Given the description of an element on the screen output the (x, y) to click on. 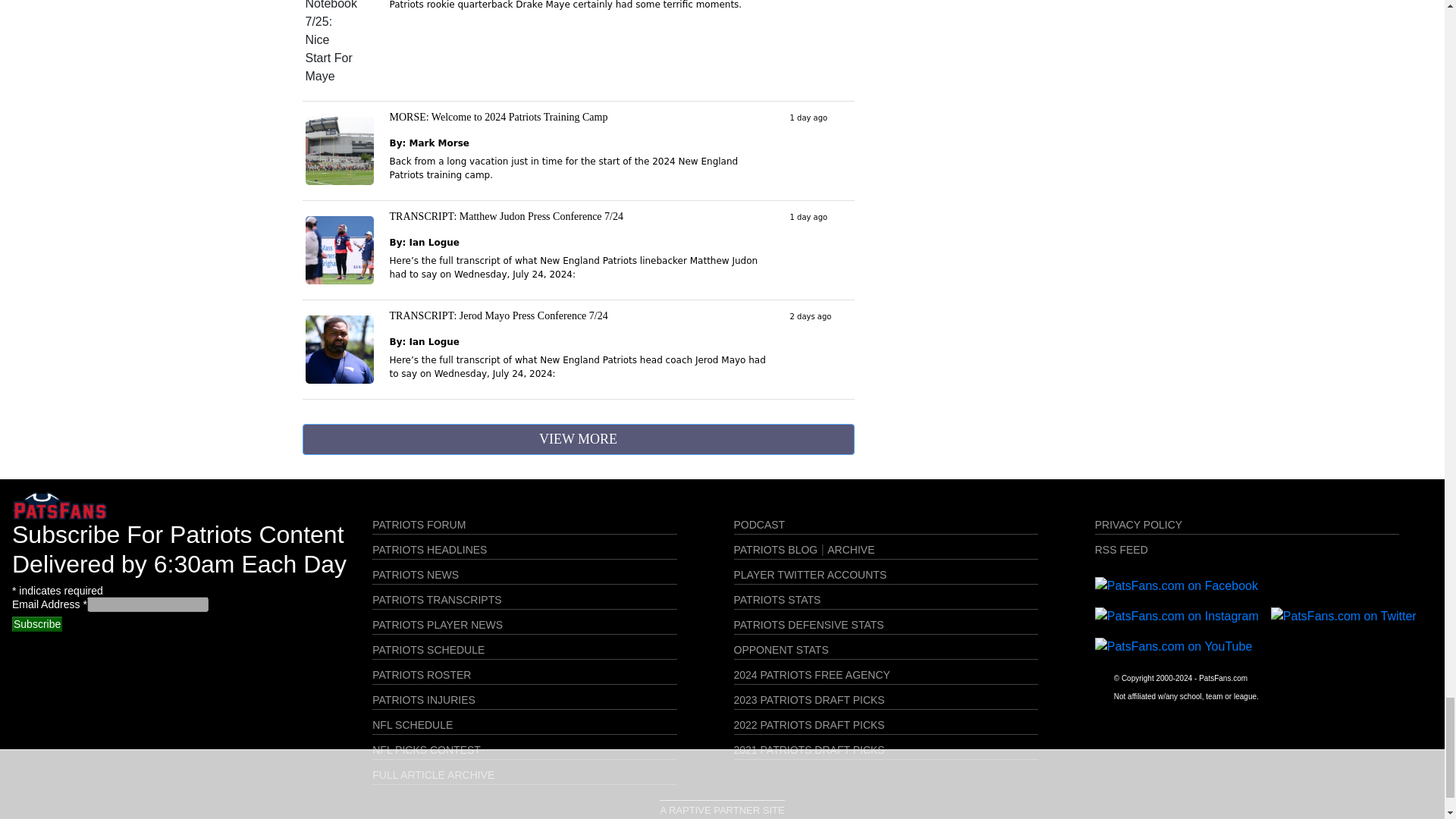
Mark Morse (438, 143)
Subscribe (36, 623)
Ian Logue (433, 242)
MORSE: Welcome to 2024 Patriots Training Camp (499, 116)
